Given the description of an element on the screen output the (x, y) to click on. 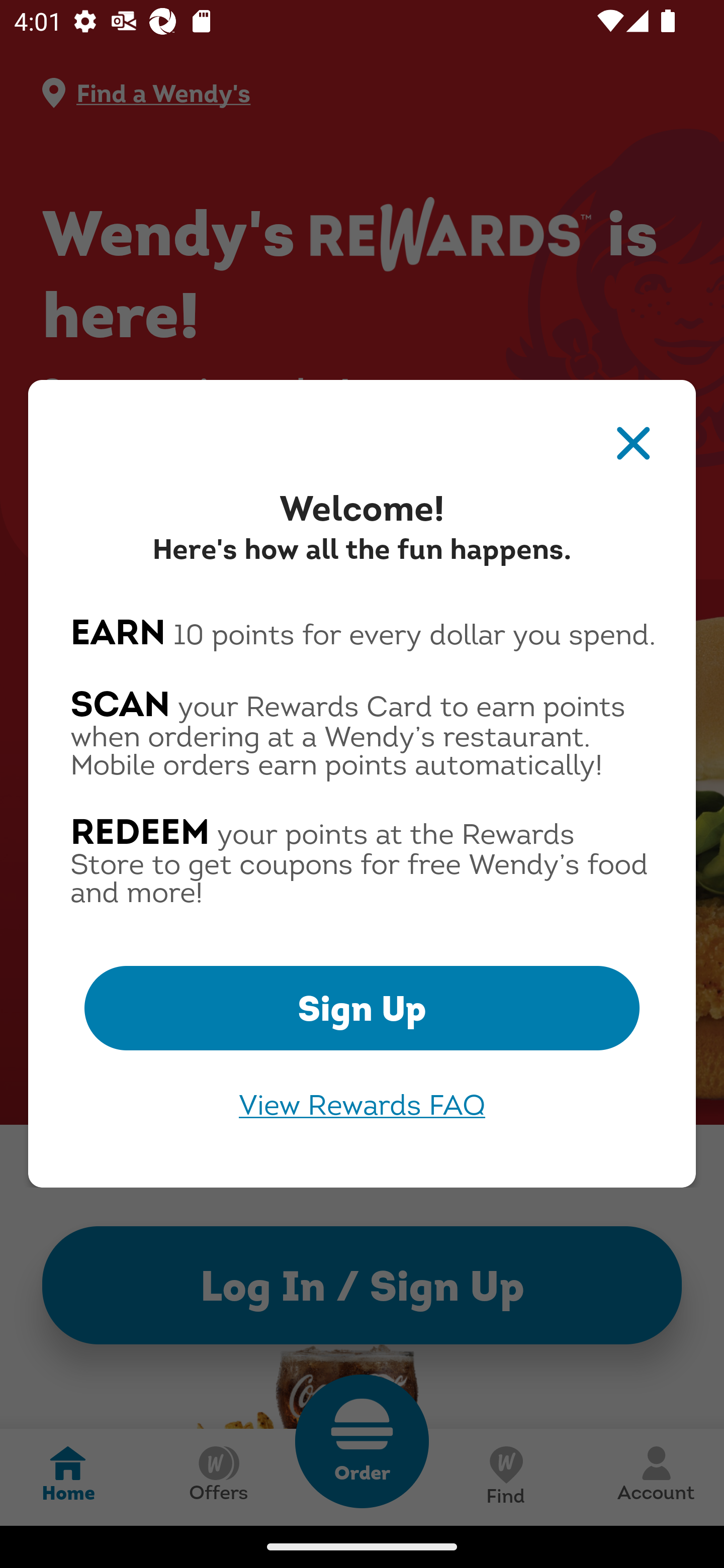
Sign Up (361, 1007)
View Rewards FAQ View Rewards FAQ Link (361, 1104)
